Given the description of an element on the screen output the (x, y) to click on. 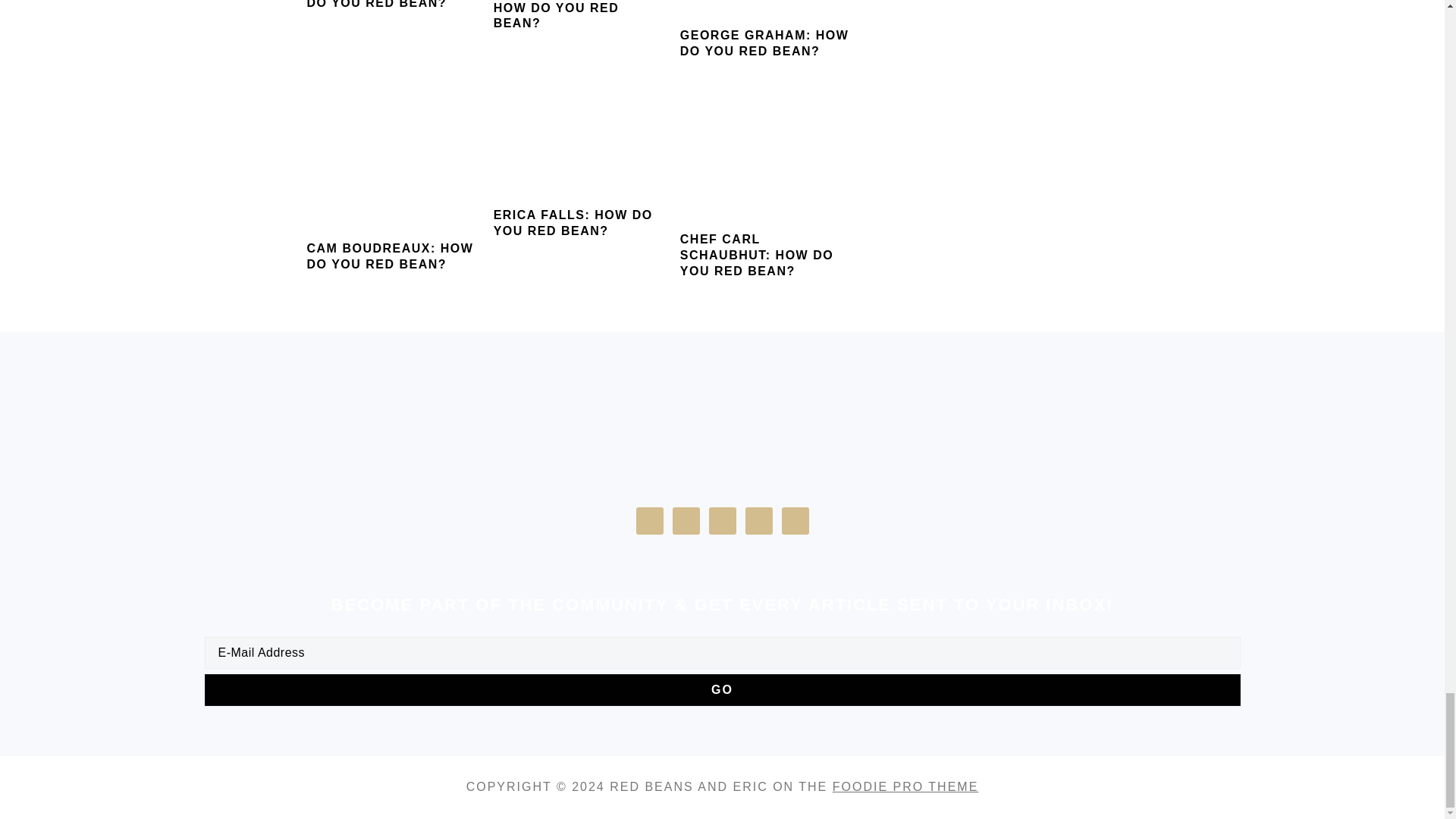
ERICA FALLS: How Do You Red Bean? (579, 144)
CAM BOUDREAUX: How Do You Red Bean? (392, 161)
Go (722, 689)
GEORGE GRAHAM: How Do You Red Bean? (766, 5)
